Given the description of an element on the screen output the (x, y) to click on. 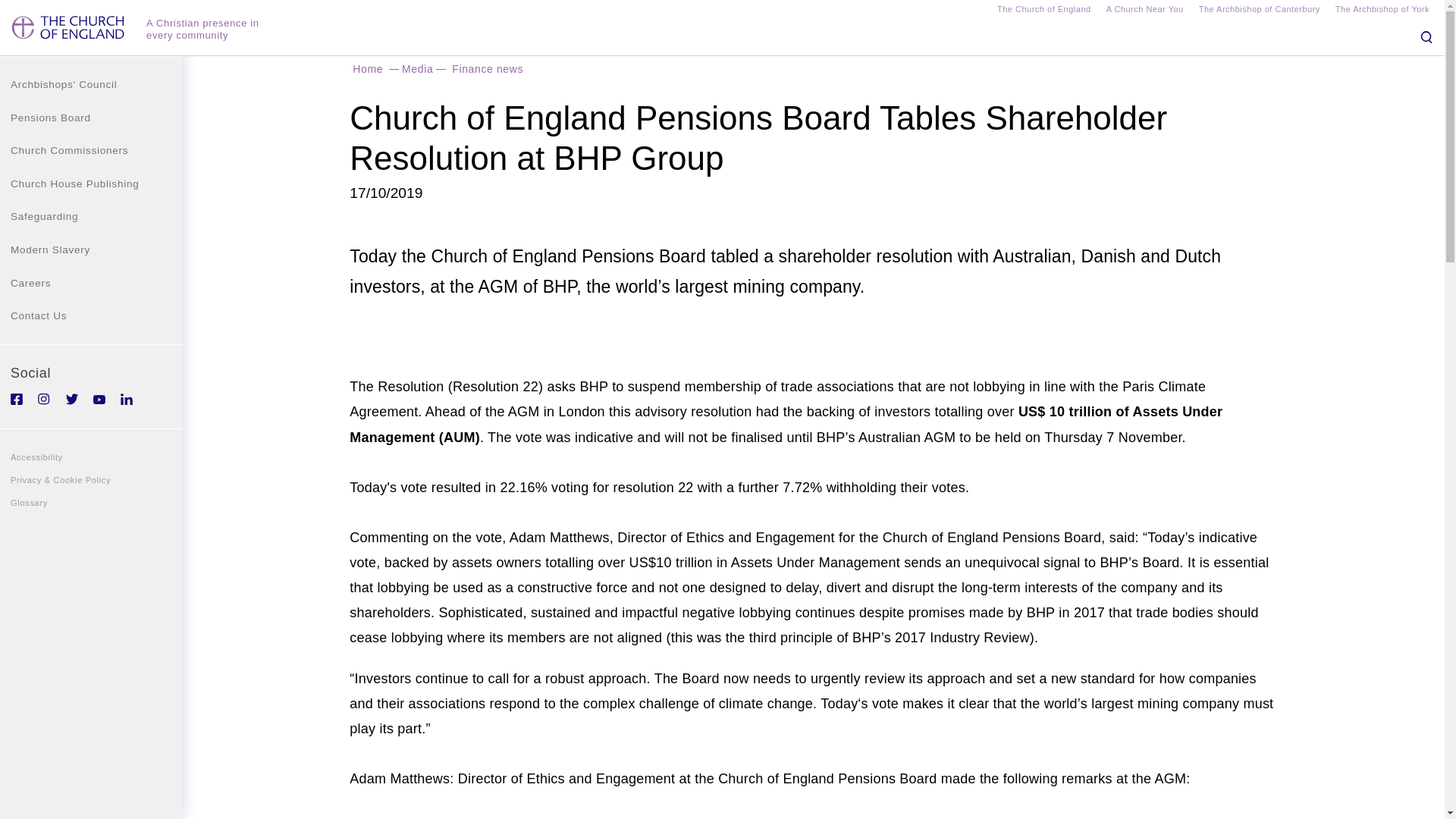
Accessibility (91, 456)
Church House Publishing (91, 183)
Modern Slavery (91, 249)
Safeguarding  (91, 216)
Careers (91, 283)
Safeguarding (91, 216)
Accessibility (91, 456)
Finance news (486, 68)
Church Commissioners (91, 150)
The Church of England (1043, 10)
